Given the description of an element on the screen output the (x, y) to click on. 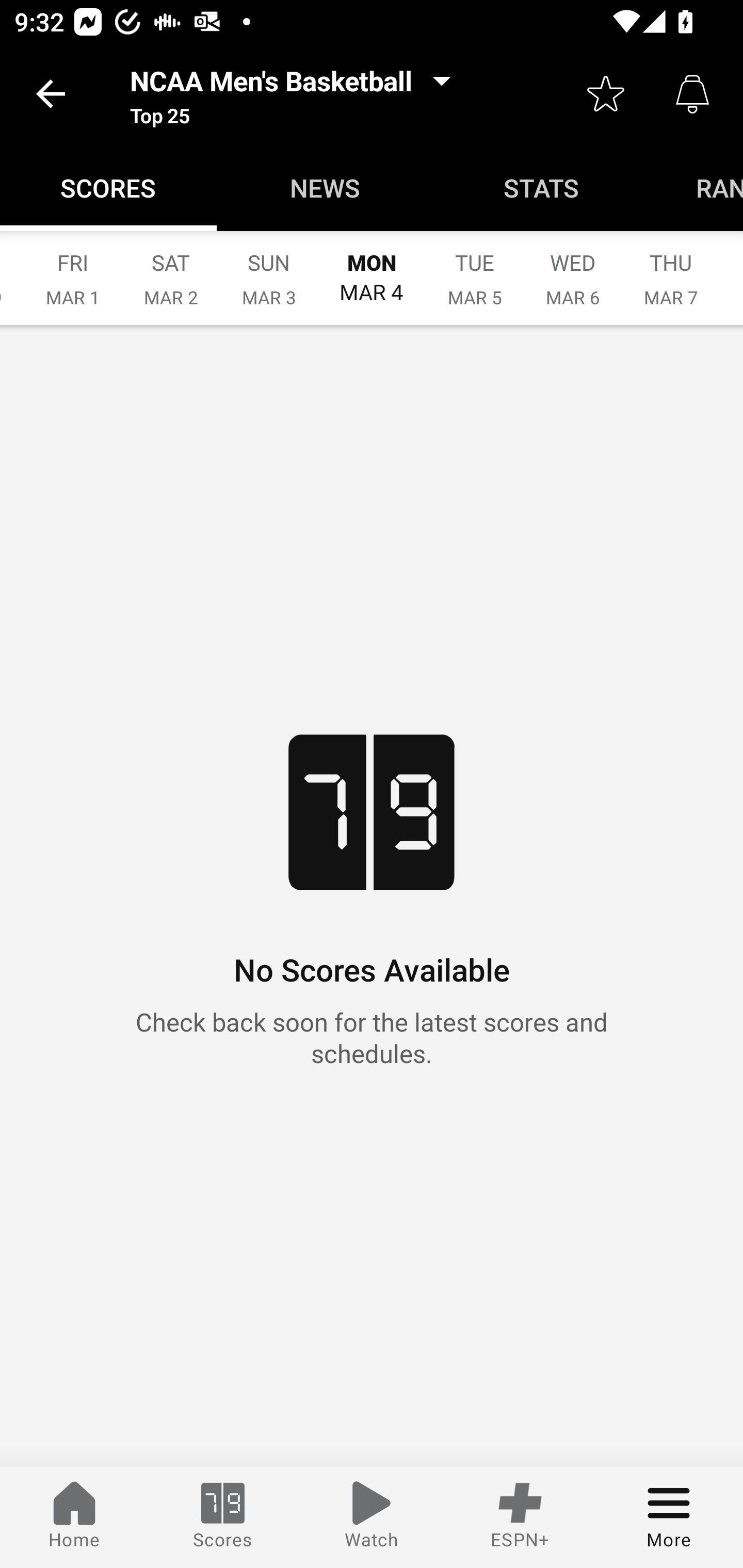
NCAA Men's Basketball Top 25 (296, 93)
Favorite toggle (605, 93)
Alerts (692, 93)
News NEWS (324, 187)
Stats STATS (541, 187)
FRI MAR 1 (72, 268)
SAT MAR 2 (170, 268)
SUN MAR 3 (268, 268)
MON MAR 4 (371, 267)
TUE MAR 5 (474, 268)
WED MAR 6 (572, 268)
THU MAR 7 (670, 268)
Home (74, 1517)
Scores (222, 1517)
Watch (371, 1517)
ESPN+ (519, 1517)
